Given the description of an element on the screen output the (x, y) to click on. 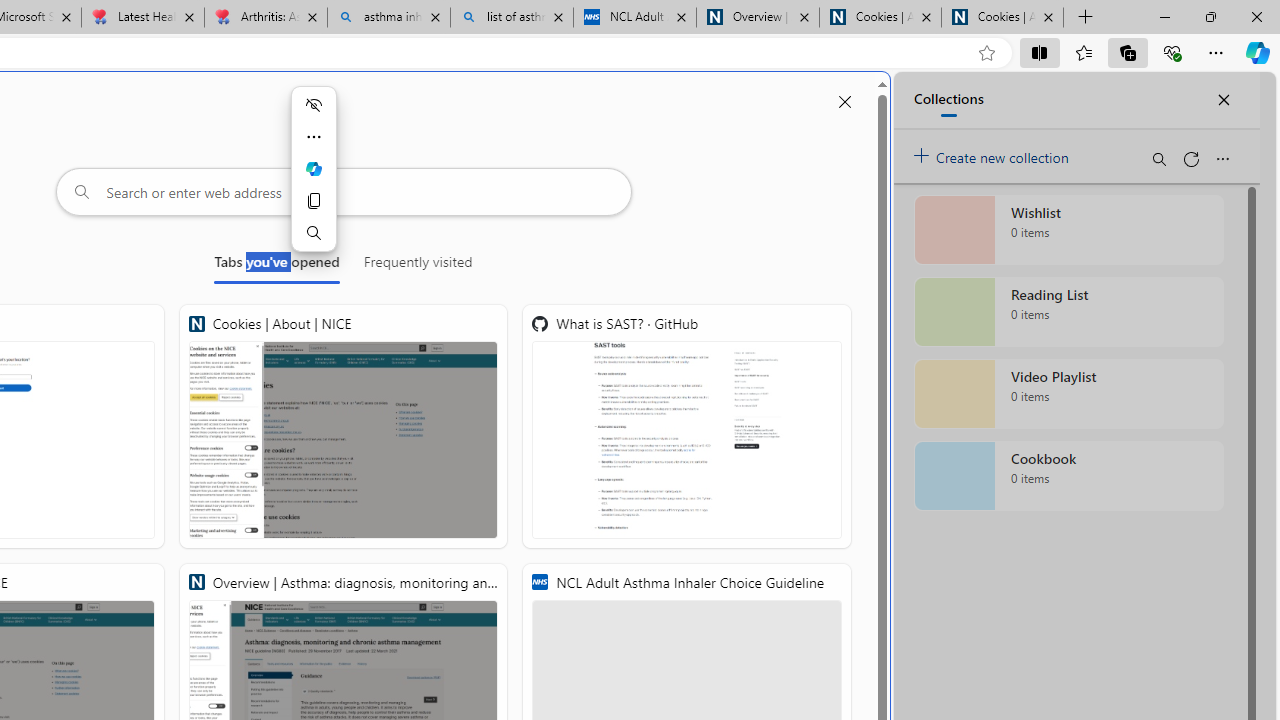
Mini menu on text selection (313, 180)
Close split screen (844, 102)
Copy (313, 200)
Tabs you've opened (276, 265)
Cookies | About | NICE (1002, 17)
Search or enter web address (343, 191)
Frequently visited (418, 265)
list of asthma inhalers uk - Search (511, 17)
Mini menu on text selection (313, 169)
